Given the description of an element on the screen output the (x, y) to click on. 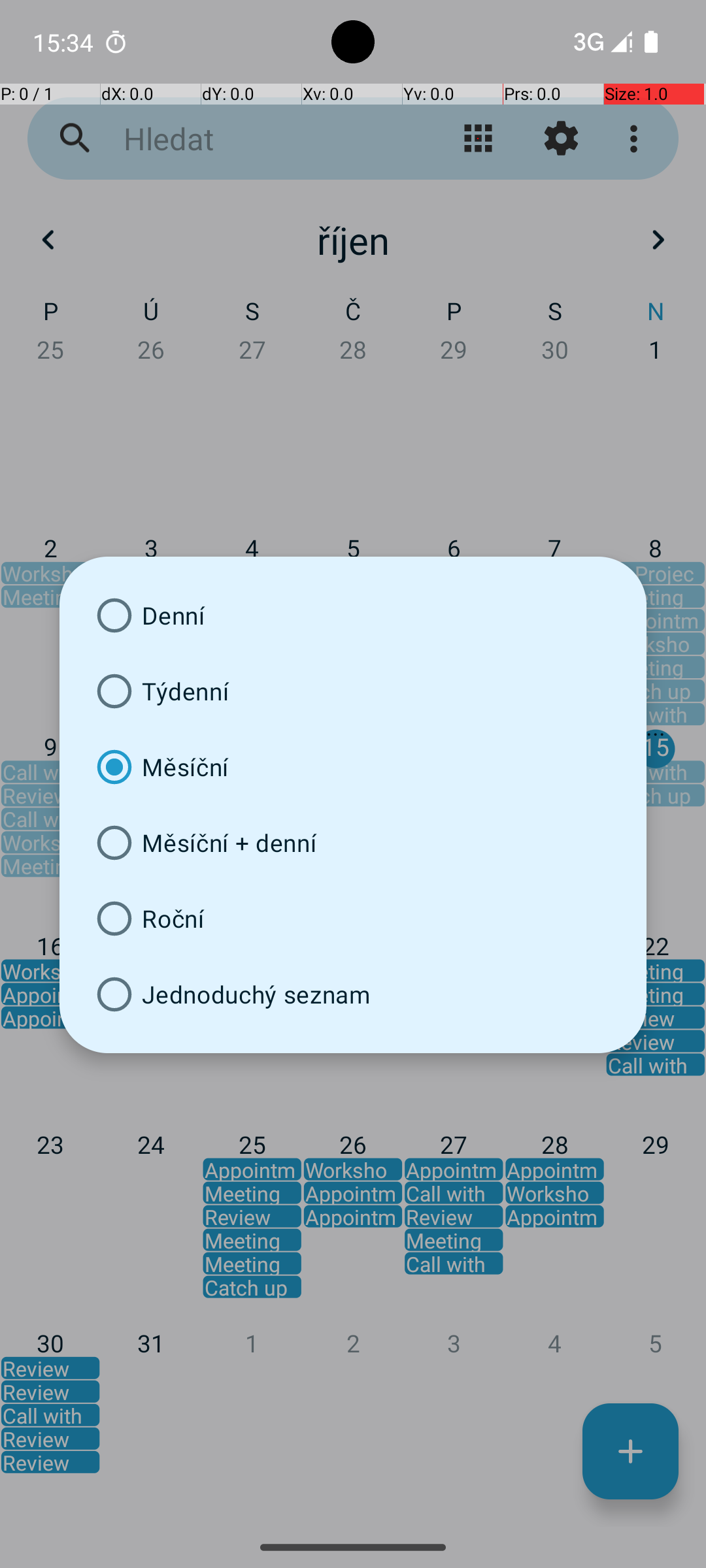
Denní Element type: android.widget.RadioButton (352, 615)
Týdenní Element type: android.widget.RadioButton (352, 691)
Měsíční Element type: android.widget.RadioButton (352, 766)
Měsíční + denní Element type: android.widget.RadioButton (352, 842)
Roční Element type: android.widget.RadioButton (352, 918)
Jednoduchý seznam Element type: android.widget.RadioButton (352, 994)
